Given the description of an element on the screen output the (x, y) to click on. 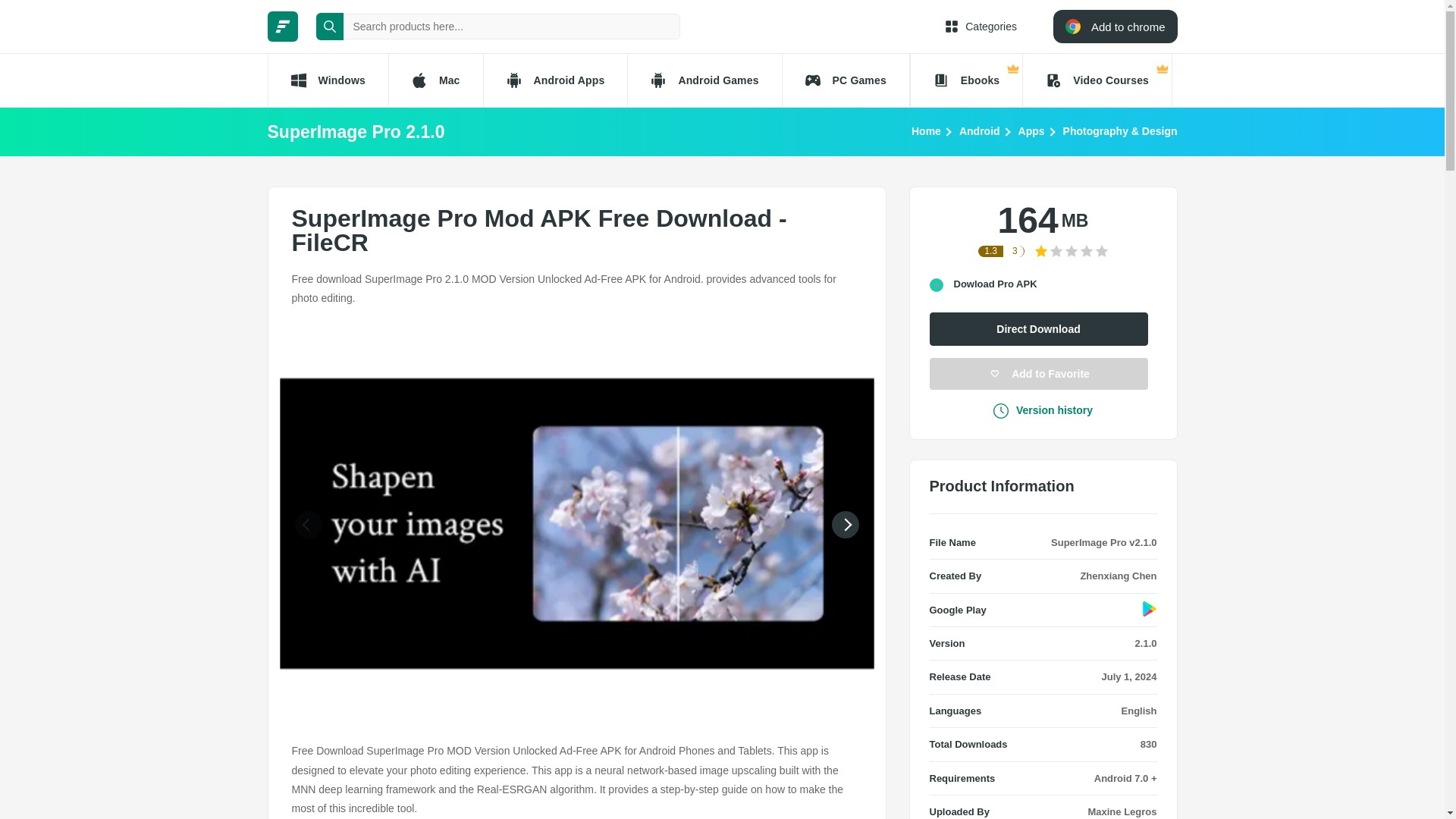
Home (925, 131)
Mac (435, 80)
Android (979, 131)
PC Games (845, 80)
Version history (1042, 410)
Categories (980, 26)
Direct Download (1039, 328)
Android Apps (555, 80)
Add to Favorite (1039, 373)
Android Games (703, 80)
